Given the description of an element on the screen output the (x, y) to click on. 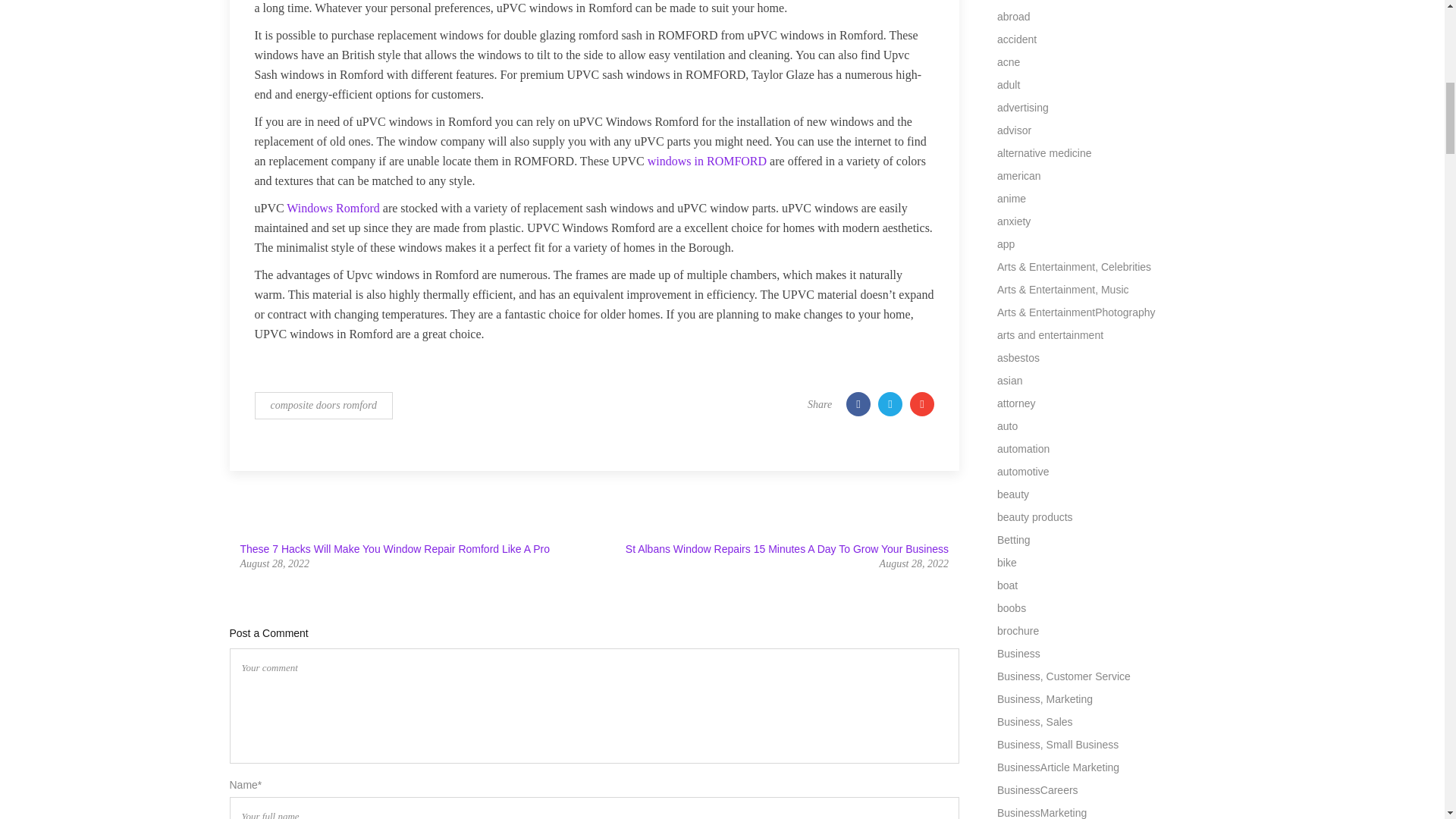
anxiety (1013, 221)
adult (1008, 84)
abroad (1013, 16)
american (1019, 175)
app (1005, 244)
advertising (1022, 107)
acne (1008, 61)
alternative medicine (1044, 152)
accident (1016, 39)
anime (1011, 198)
advisor (1013, 130)
